Given the description of an element on the screen output the (x, y) to click on. 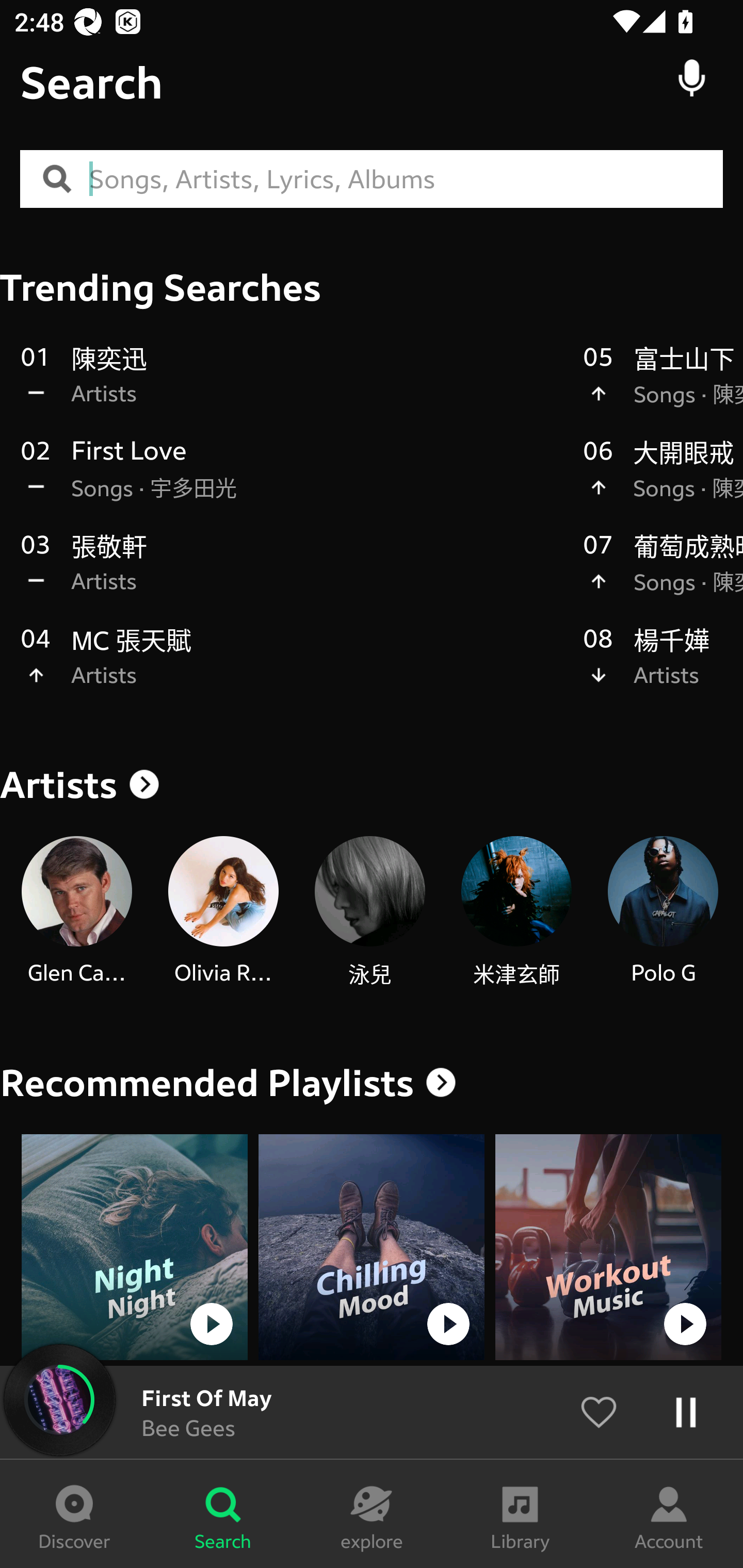
Songs, Artists, Lyrics, Albums (405, 179)
01 陳奕迅 Artists (291, 385)
05 富士山下 Songs · 陳奕迅 (663, 385)
02 First Love Songs · 宇多田光 (291, 479)
06 大開眼戒 Songs · 陳奕迅 (663, 479)
03 張敬軒 Artists (291, 573)
07 葡萄成熟時 Songs · 陳奕迅 (663, 573)
04 MC 張天賦 Artists (291, 667)
08 楊千嬅 Artists (663, 667)
Artists (371, 784)
Glen Campbell (76, 911)
Olivia Rodrigo (222, 911)
泳兒 (369, 912)
米津玄師 (516, 912)
Polo G (662, 911)
Recommended Playlists (206, 1082)
First Of May Bee Gees (371, 1412)
Discover (74, 1513)
explore (371, 1513)
Library (519, 1513)
Account (668, 1513)
